Given the description of an element on the screen output the (x, y) to click on. 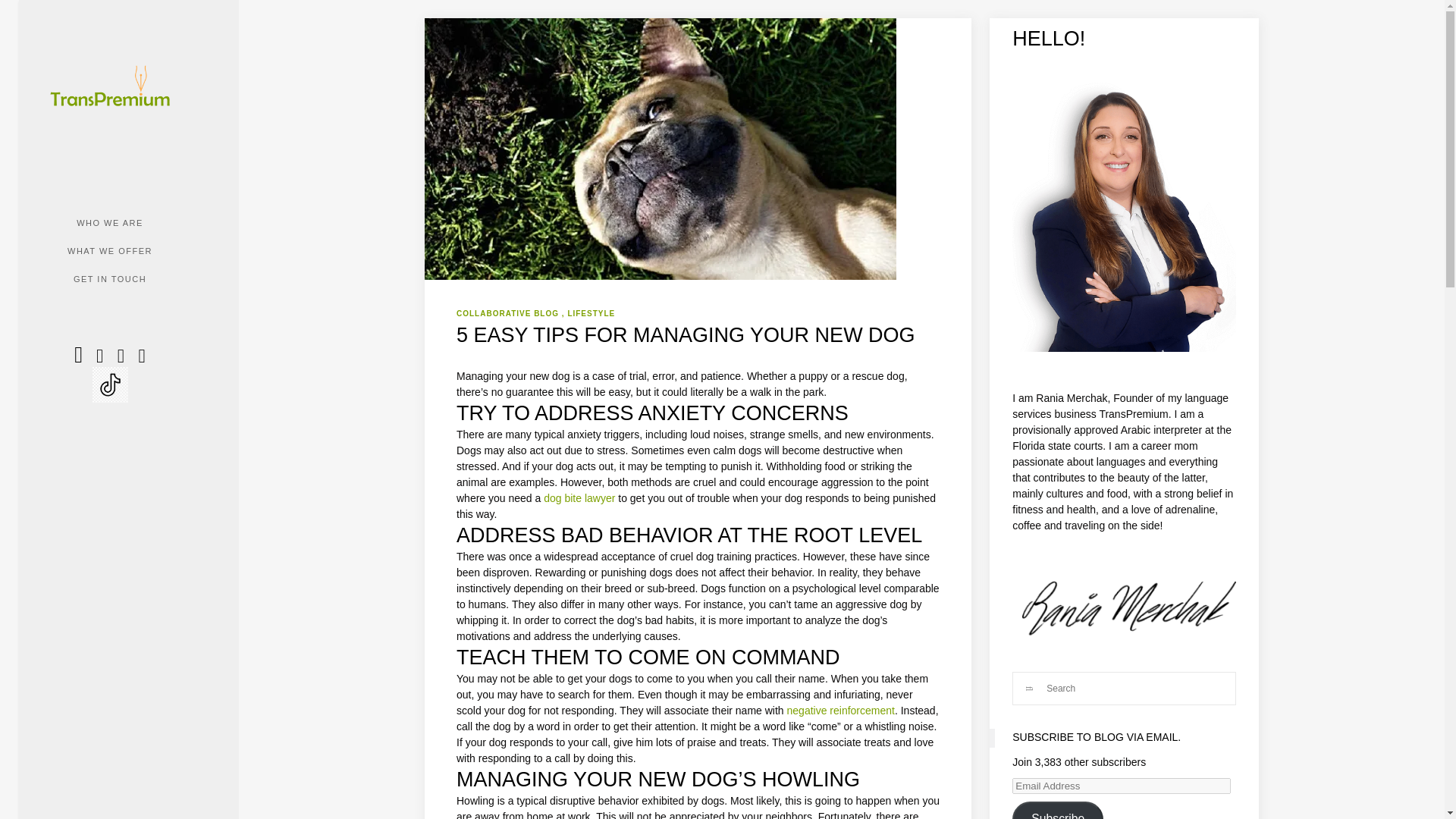
dog bite lawyer (578, 498)
WHO WE ARE (109, 222)
WHAT WE OFFER (109, 251)
Advertisement (841, 730)
LIFESTYLE (590, 313)
GET IN TOUCH (110, 279)
negative reinforcement (841, 710)
COLLABORATIVE BLOG (510, 313)
